Given the description of an element on the screen output the (x, y) to click on. 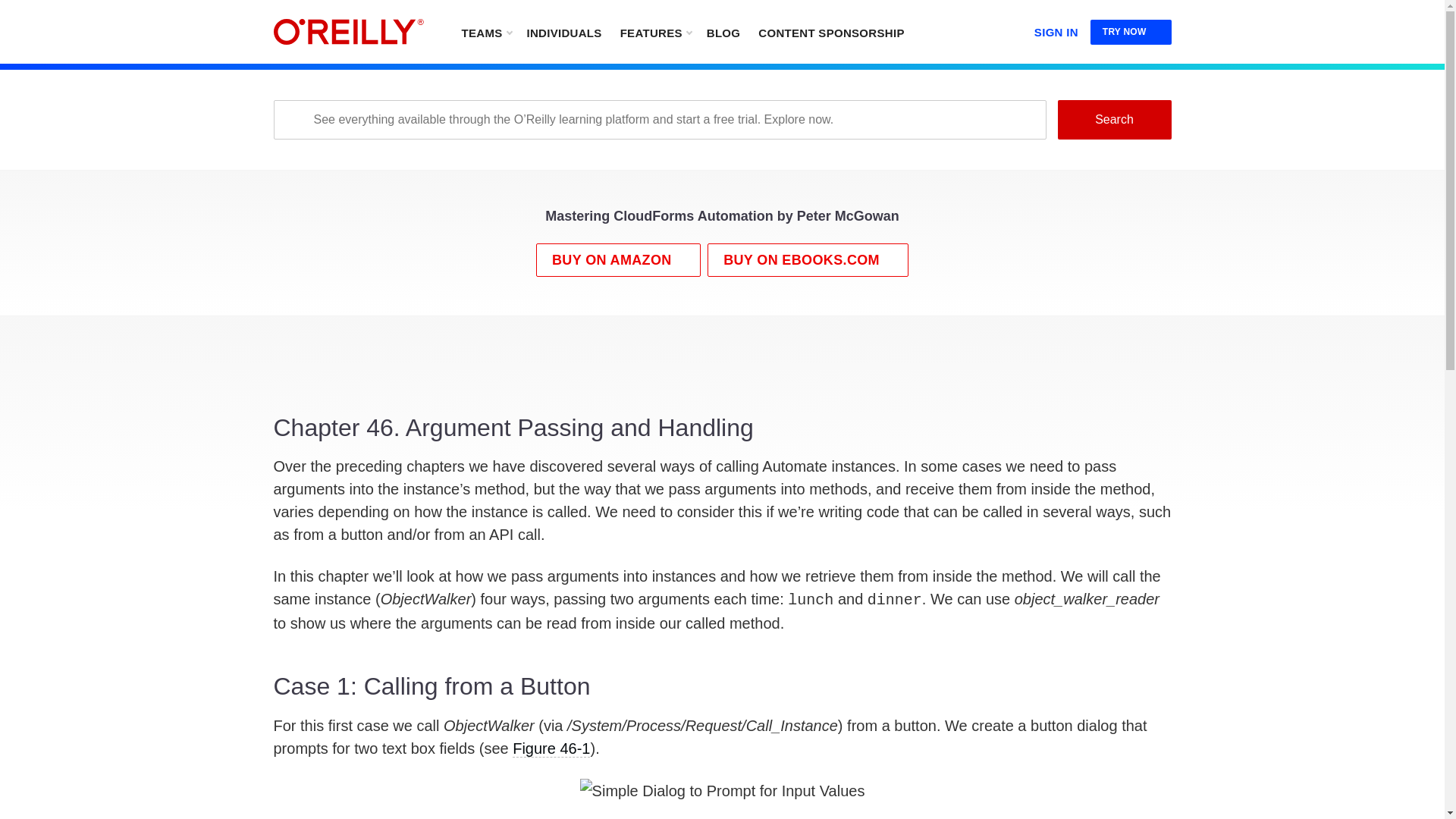
Mastering CloudForms Automation by Peter McGowan (721, 219)
Search (1113, 119)
TEAMS (486, 31)
BUY ON EBOOKS.COM (807, 259)
BLOG (723, 31)
CONTENT SPONSORSHIP (831, 31)
BUY ON AMAZON (617, 259)
TRY NOW (1131, 32)
Search (1113, 119)
FEATURES (655, 31)
